Given the description of an element on the screen output the (x, y) to click on. 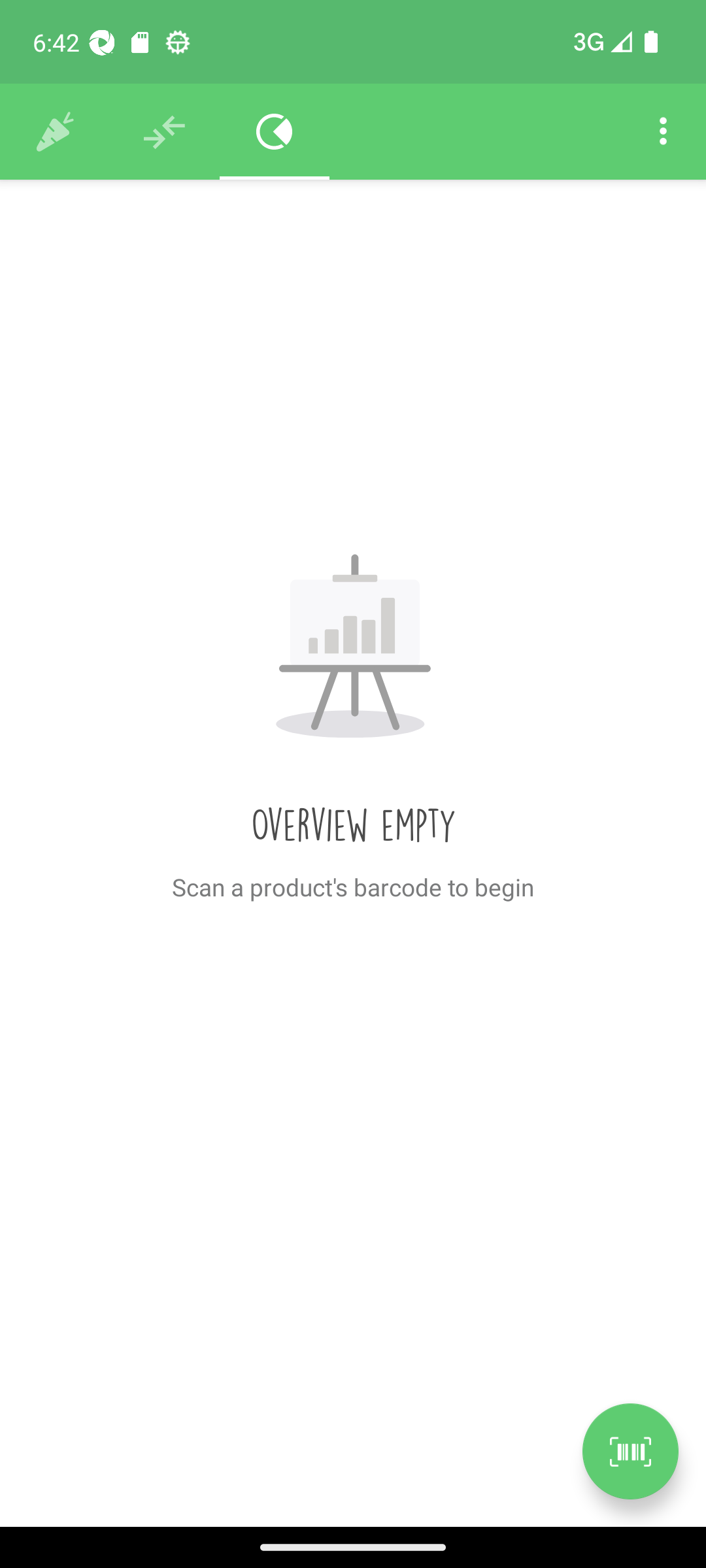
History (55, 131)
Recommendations (164, 131)
Settings (663, 131)
Scan a product (630, 1451)
